Given the description of an element on the screen output the (x, y) to click on. 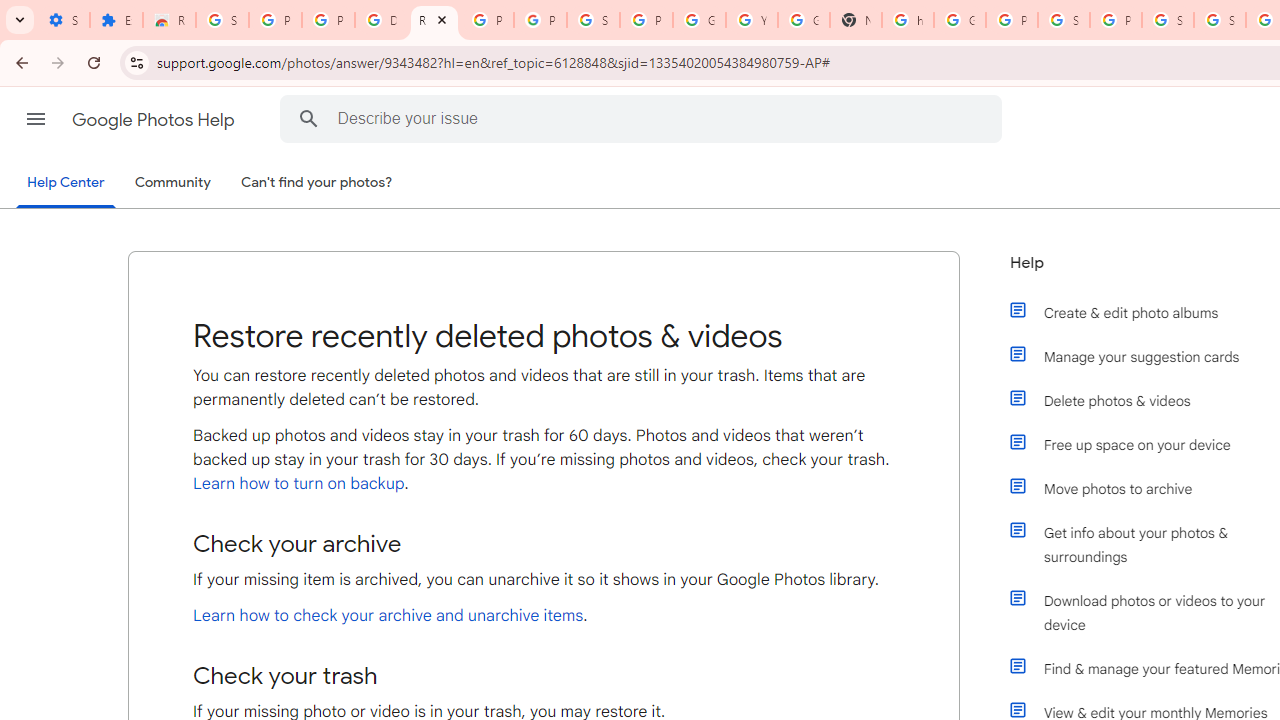
Sign in - Google Accounts (1167, 20)
Settings - On startup (63, 20)
Help Center (65, 183)
Sign in - Google Accounts (1064, 20)
Learn how to check your archive and unarchive items (388, 615)
Sign in - Google Accounts (593, 20)
Main menu (35, 119)
Community (171, 183)
New Tab (855, 20)
